Given the description of an element on the screen output the (x, y) to click on. 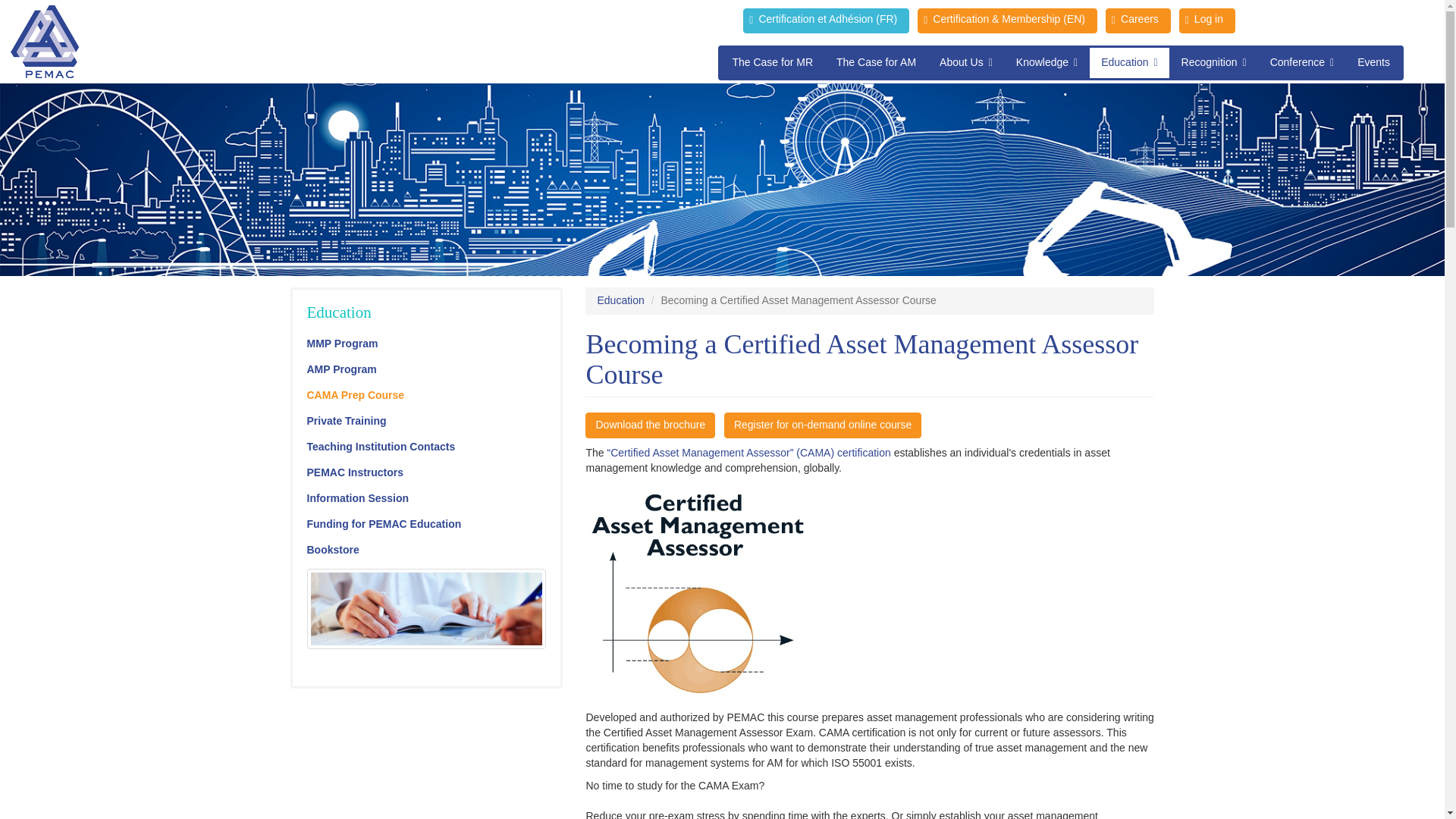
PEMAC (44, 40)
The Case for MR (772, 62)
The Case for AM (876, 62)
About Us (966, 62)
Education (1129, 62)
Knowledge (1046, 62)
Recognition (1213, 62)
